Given the description of an element on the screen output the (x, y) to click on. 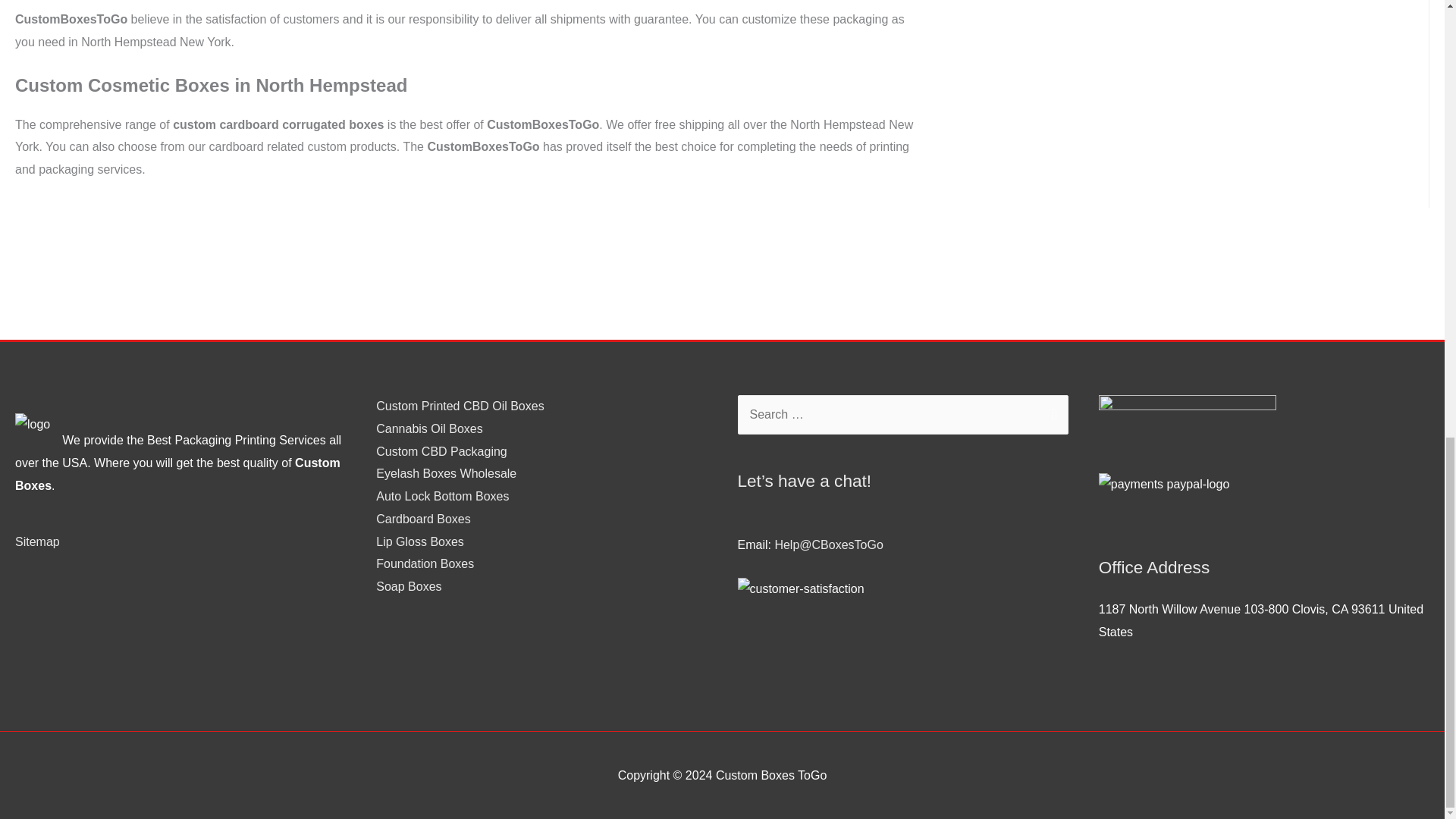
Customer reviews powered by Trustpilot (540, 618)
Soap Boxes (408, 585)
Lip Gloss Boxes (419, 541)
Eyelash Boxes Wholesale (445, 472)
Custom CBD Packaging (440, 451)
Custom Printed CBD Oil Boxes (459, 405)
Sitemap (36, 541)
Cannabis Oil Boxes (429, 428)
Auto Lock Bottom Boxes (441, 495)
Foundation Boxes (424, 563)
